Given the description of an element on the screen output the (x, y) to click on. 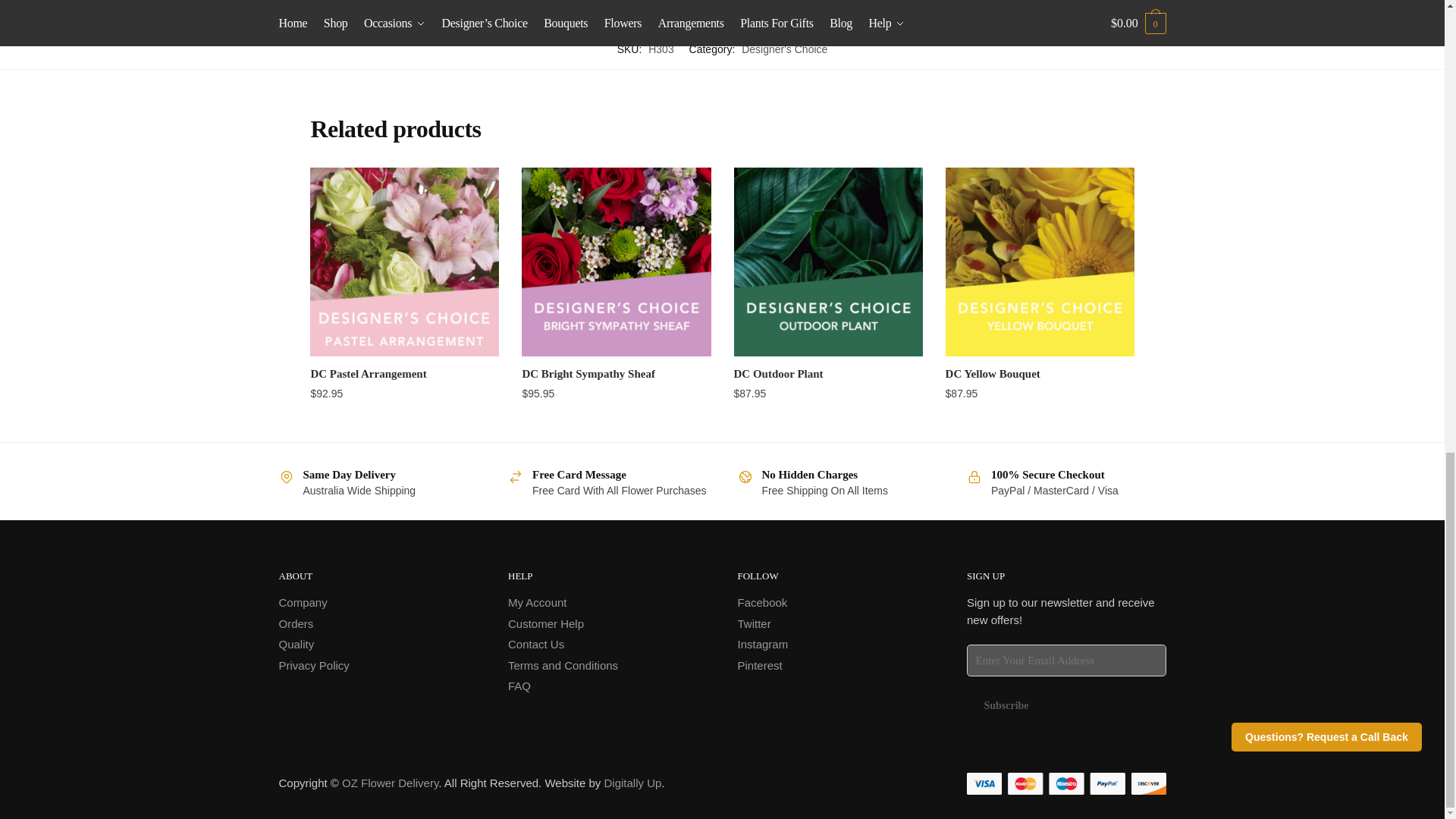
Subscribe (1005, 706)
